Given the description of an element on the screen output the (x, y) to click on. 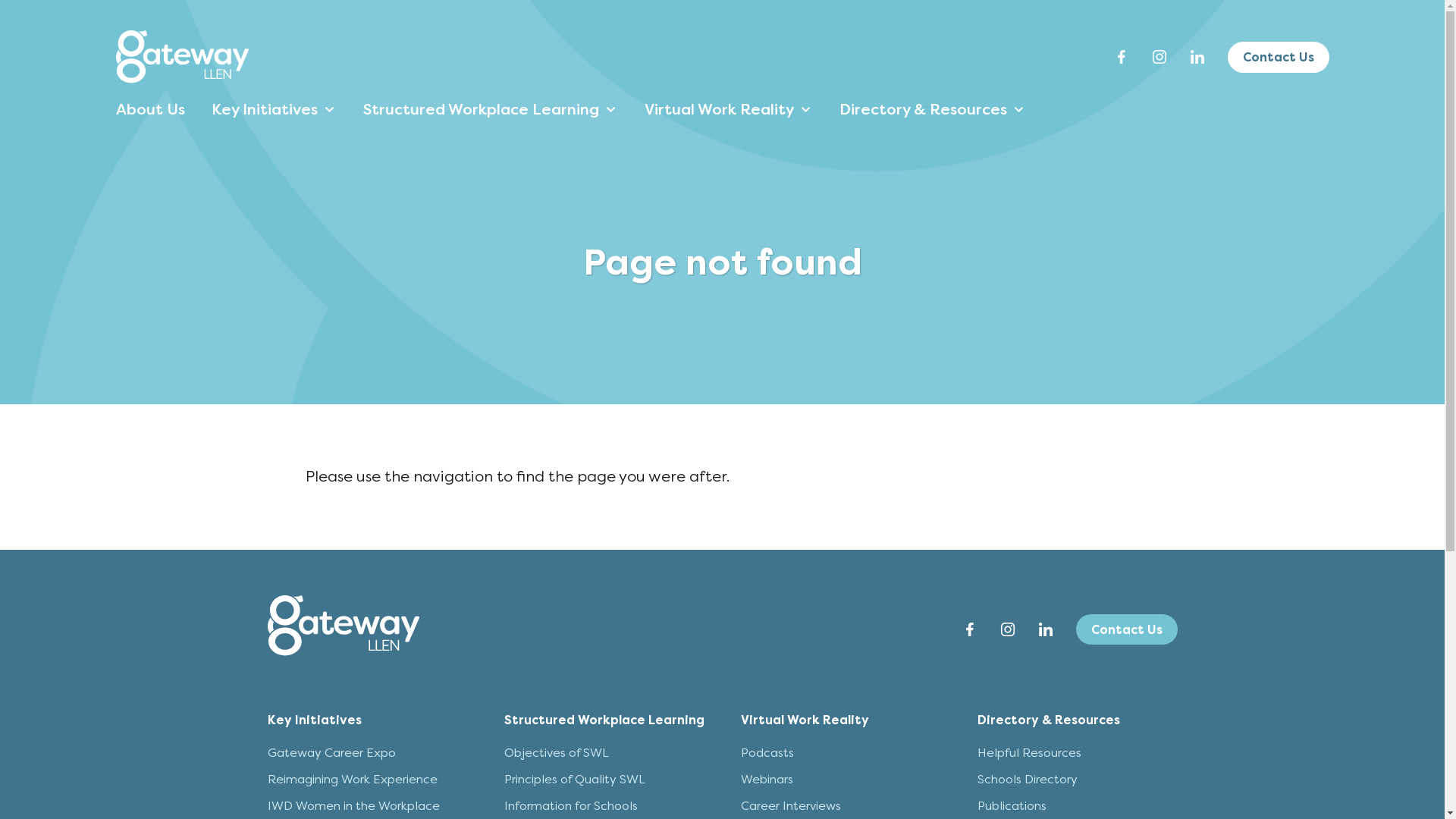
IWD Women in the Workplace Element type: text (352, 805)
Publications Element type: text (1010, 805)
Directory & Resources Element type: text (1047, 719)
Contact Us Element type: text (1125, 629)
Directory & Resources Element type: text (929, 109)
Gateway LLEN on Instagram Element type: hover (1006, 629)
Gateway LLEN on Instagram Element type: hover (1158, 56)
Key Initiatives Element type: text (271, 109)
Reimagining Work Experience Element type: text (351, 778)
Gateway LLEN Element type: hover (181, 56)
Gateway LLEN on Facebook Element type: hover (968, 629)
Information for Schools Element type: text (570, 805)
Virtual Work Reality Element type: text (726, 109)
Structured Workplace Learning Element type: text (487, 109)
Structured Workplace Learning Element type: text (603, 719)
Helpful Resources Element type: text (1028, 752)
Gateway LLEN on LinkedIn Element type: hover (1044, 629)
Webinars Element type: text (766, 778)
Gateway LLEN Element type: hover (181, 78)
Career Interviews Element type: text (790, 805)
Virtual Work Reality Element type: text (804, 719)
Gateway LLEN on LinkedIn Element type: hover (1196, 56)
Contact Us Element type: text (1277, 56)
About Us Element type: text (147, 109)
Podcasts Element type: text (766, 752)
Gateway LLEN Element type: hover (342, 625)
Schools Directory Element type: text (1026, 778)
Objectives of SWL Element type: text (555, 752)
Gateway Career Expo Element type: text (330, 752)
Gateway LLEN on Facebook Element type: hover (1120, 56)
Gateway LLEN Element type: hover (342, 629)
Principles of Quality SWL Element type: text (573, 778)
Key Initiatives Element type: text (313, 719)
